Given the description of an element on the screen output the (x, y) to click on. 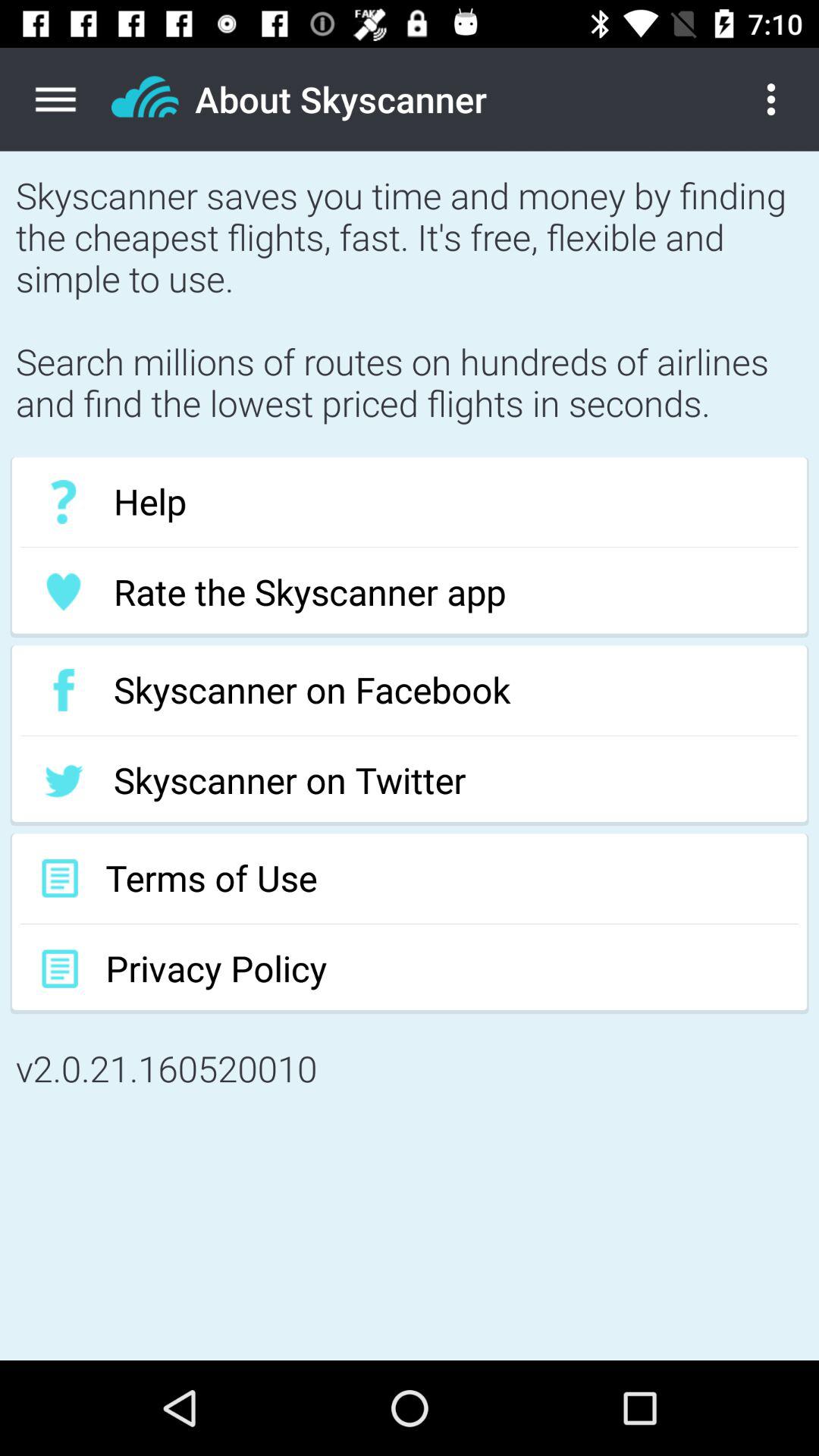
turn off the help (409, 502)
